Given the description of an element on the screen output the (x, y) to click on. 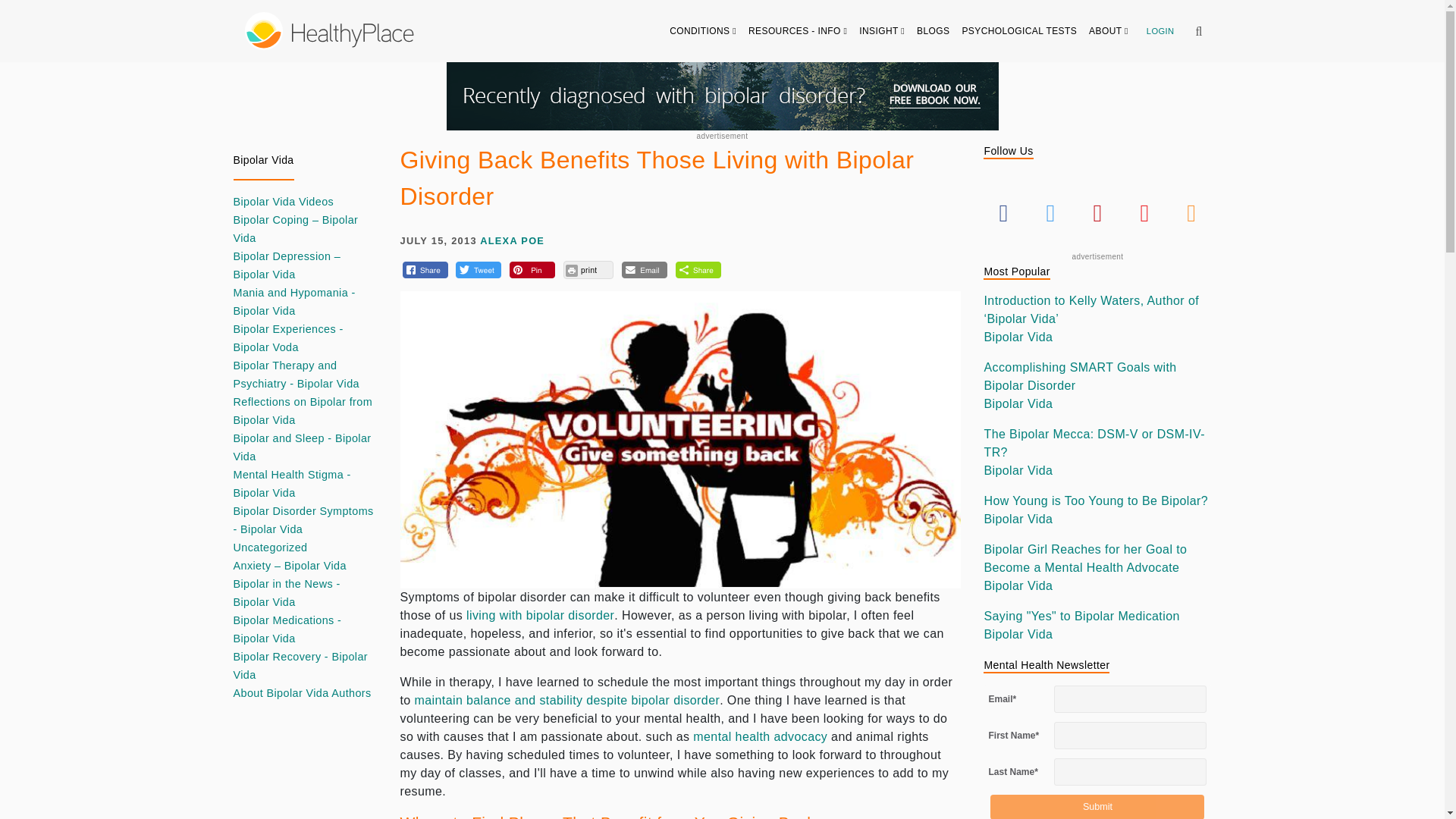
Living with Bipolar Disorder (539, 615)
Get our free bipolar eBook. Click to download. (721, 96)
INSIGHT (882, 31)
Stability in Bipolar Disorder Requires Routine (566, 699)
Submit (1097, 806)
CONDITIONS (702, 31)
RESOURCES - INFO (797, 31)
